Given the description of an element on the screen output the (x, y) to click on. 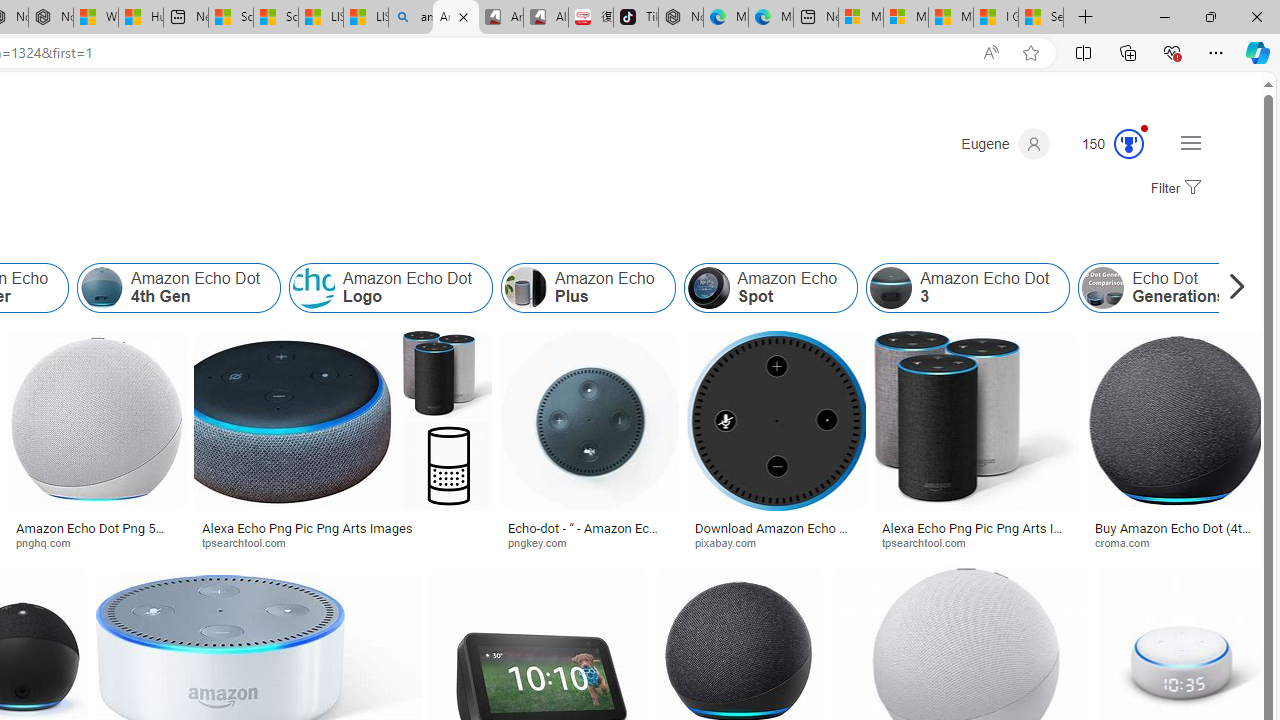
Amazon Echo Dot PNG - Search Images (455, 17)
Class: item col (1161, 287)
Settings and quick links (1190, 142)
Microsoft account | Privacy (905, 17)
Amazon Echo Dot Png 542 Download (96, 534)
Wildlife - MSN (95, 17)
